Given the description of an element on the screen output the (x, y) to click on. 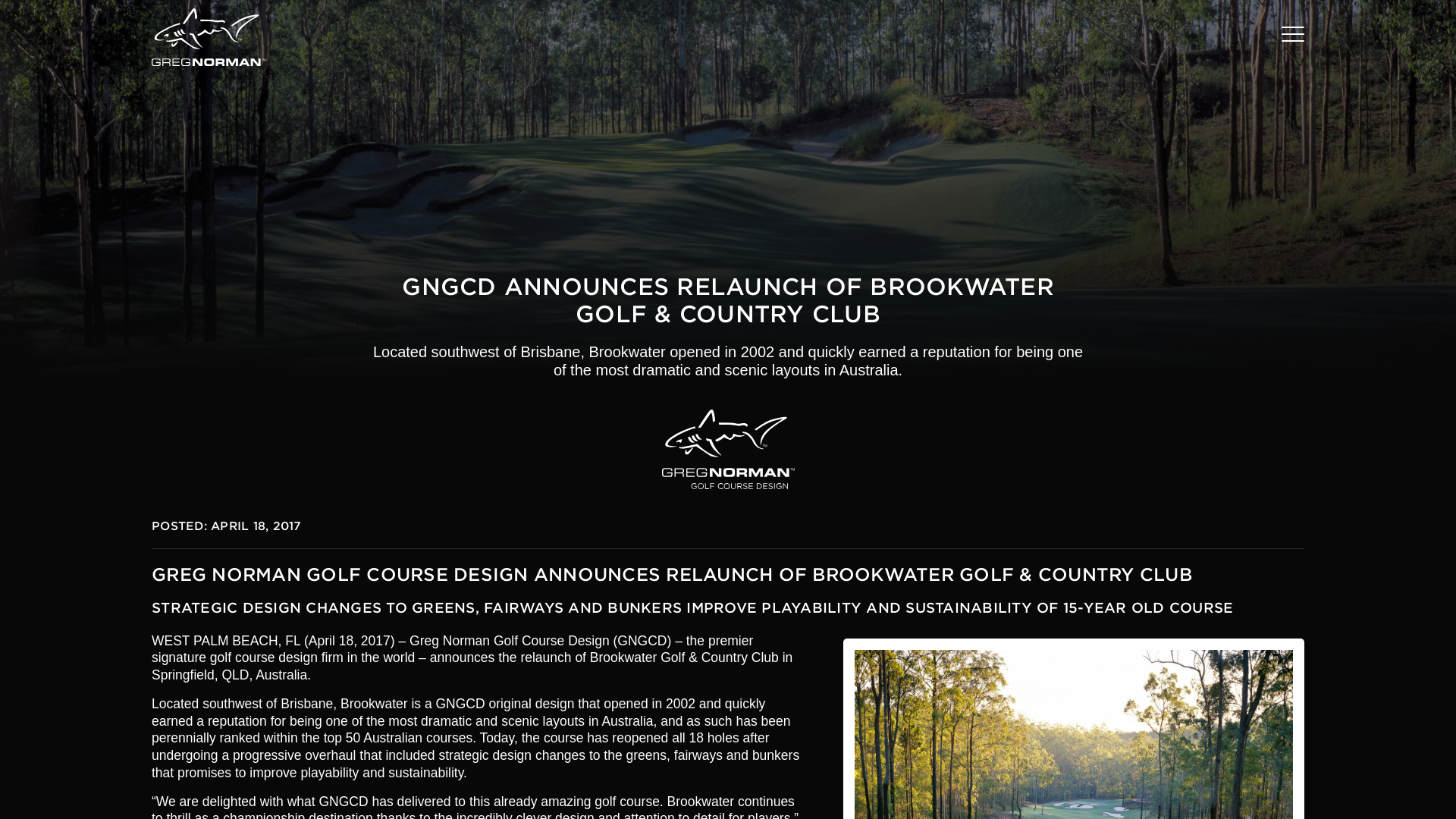
Greg Norman Golf Course Design (727, 448)
Brookwater (1073, 728)
